Given the description of an element on the screen output the (x, y) to click on. 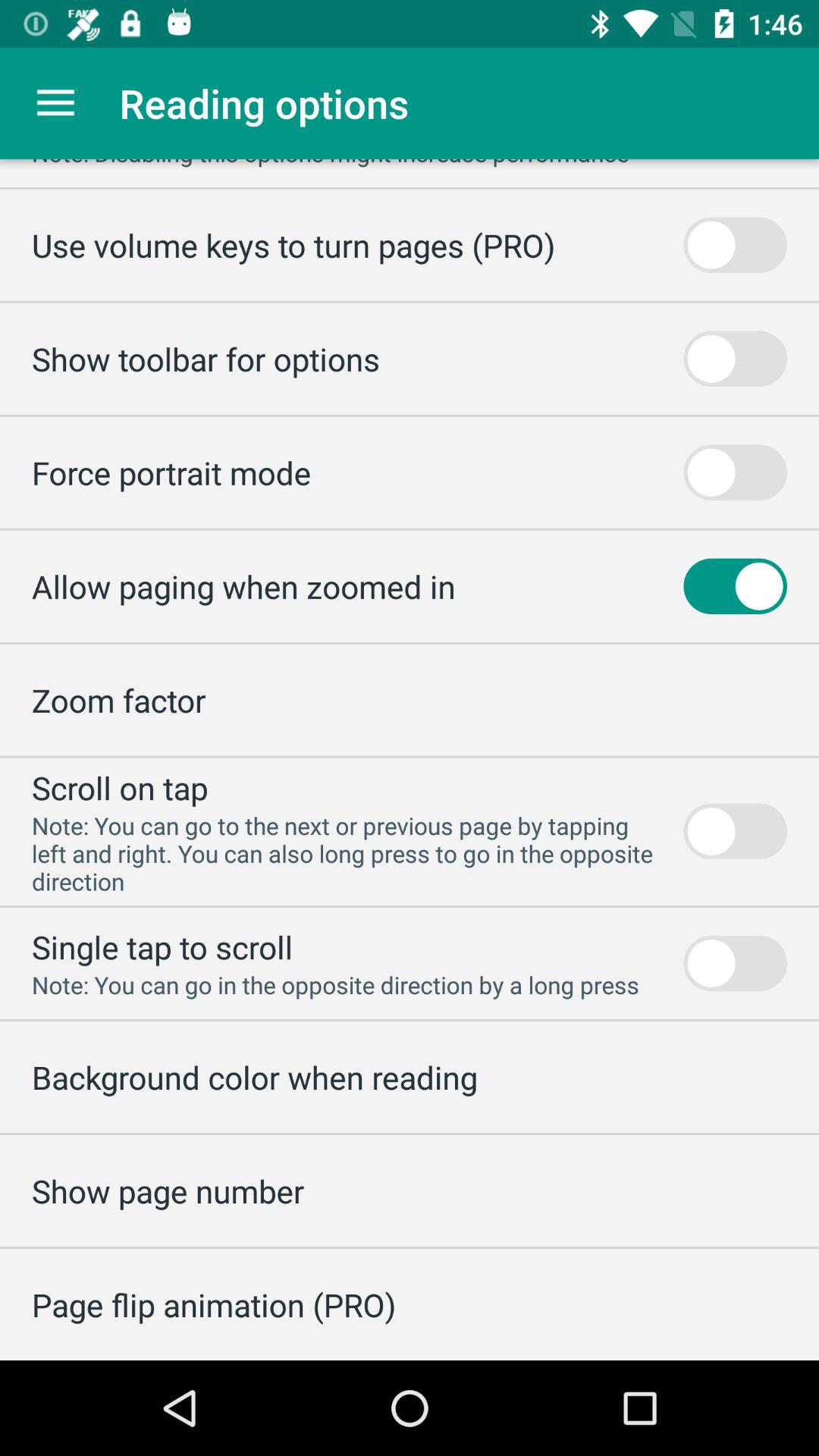
turn off allow paging when (243, 585)
